Given the description of an element on the screen output the (x, y) to click on. 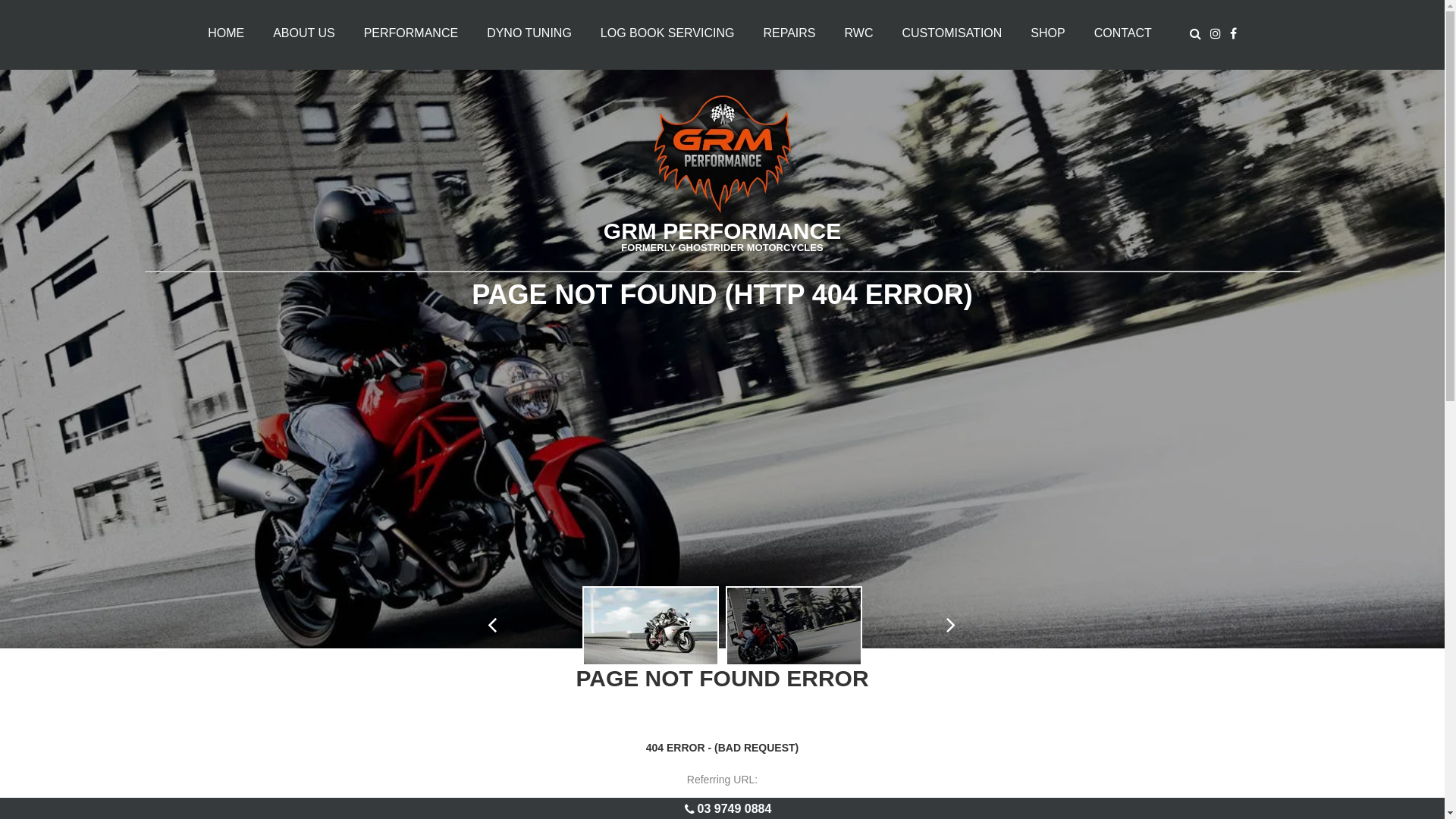
SHOP Element type: text (1047, 33)
REPAIRS Element type: text (788, 33)
03 9749 0884 Element type: text (734, 808)
ABOUT US Element type: text (304, 33)
HOME Element type: text (225, 33)
LOG BOOK SERVICING Element type: text (667, 33)
RWC Element type: text (858, 33)
DYNO TUNING Element type: text (528, 33)
CONTACT Element type: text (1122, 33)
CUSTOMISATION Element type: text (951, 33)
PERFORMANCE Element type: text (411, 33)
